Given the description of an element on the screen output the (x, y) to click on. 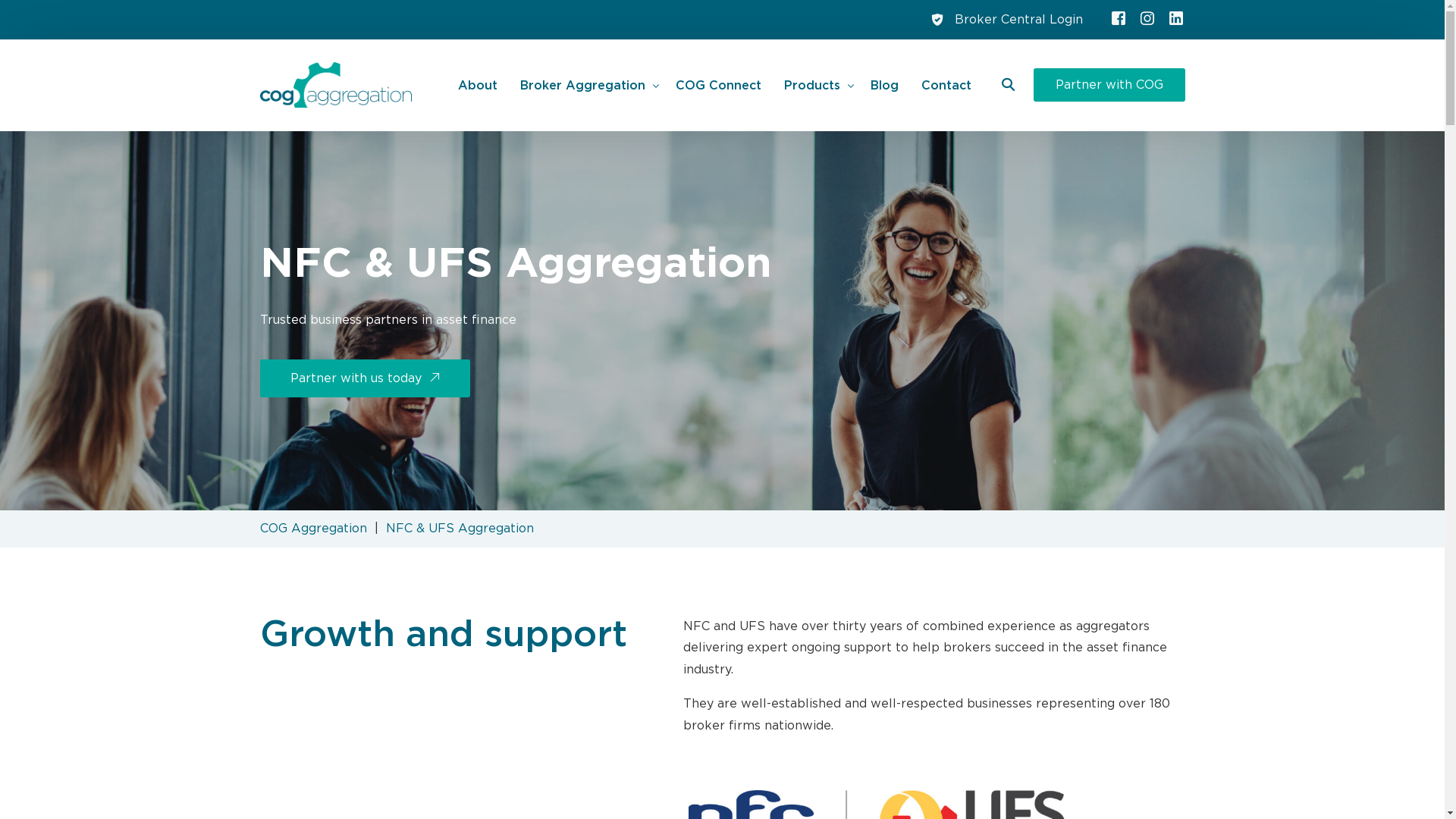
Broker Aggregation Element type: text (586, 85)
Products Element type: text (815, 85)
Contact Element type: text (946, 85)
Partner with COG Element type: text (1109, 84)
Partner with us today Element type: text (364, 378)
About Element type: text (477, 85)
COG Aggregation Element type: text (312, 528)
Blog Element type: text (884, 85)
COG Connect Element type: text (718, 85)
Broker Central Login Element type: text (1017, 19)
